Given the description of an element on the screen output the (x, y) to click on. 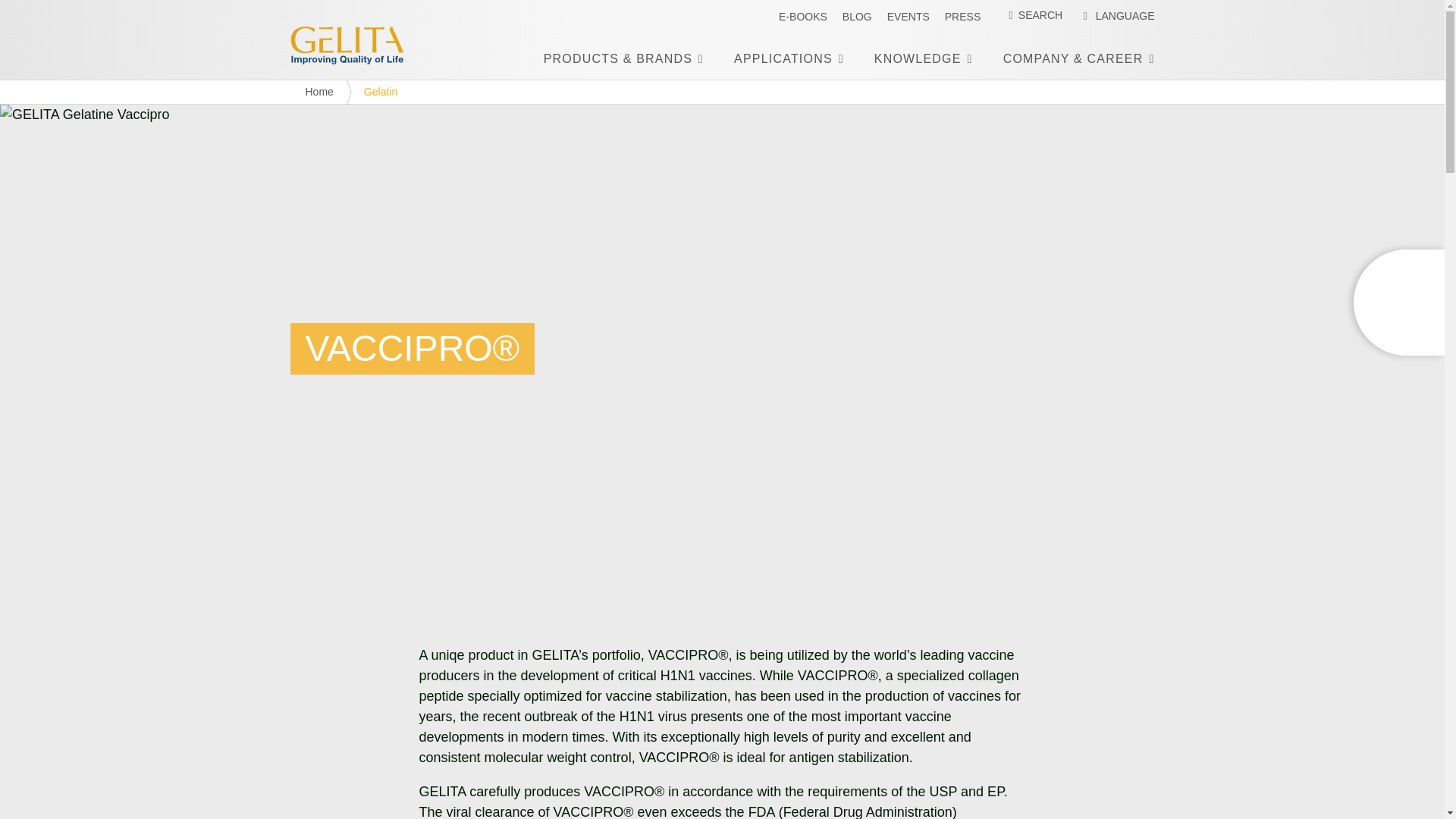
LANGUAGE (1115, 16)
Home (357, 45)
Search (43, 18)
Blog (857, 16)
BLOG (857, 16)
PRESS (961, 16)
EVENTS (908, 16)
E-BOOKS (802, 16)
SEARCH (1028, 15)
E-Books Gelita (802, 16)
